Given the description of an element on the screen output the (x, y) to click on. 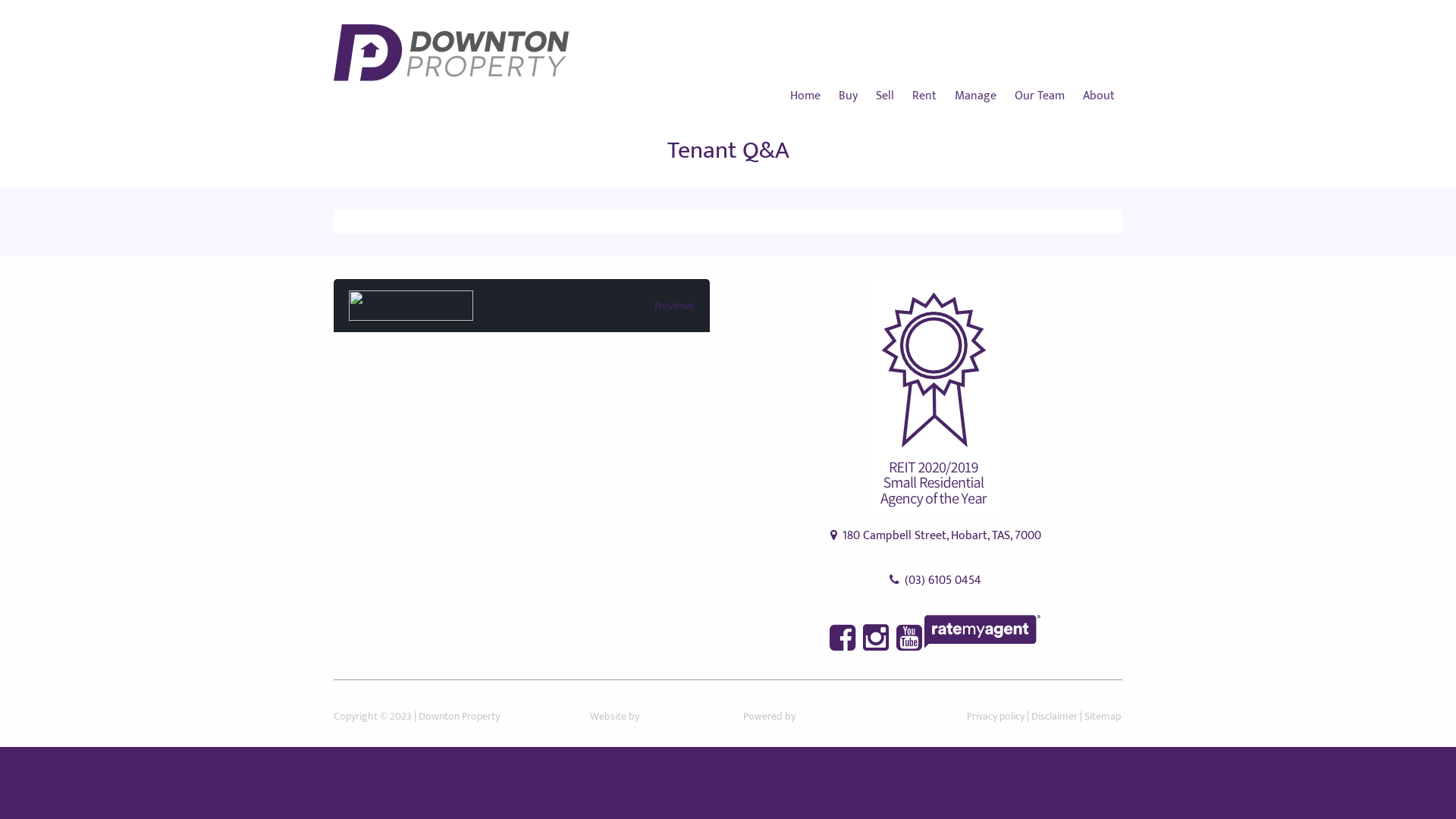
Manage Element type: text (975, 96)
Disclaimer Element type: text (1054, 715)
Rent Element type: text (924, 96)
Buy Element type: text (848, 96)
Reviews Element type: text (521, 305)
Downton Property Element type: text (458, 715)
Sitemap Element type: text (1102, 715)
About Element type: text (1098, 96)
Home Element type: text (809, 96)
Our Team Element type: text (1039, 96)
Sell Element type: text (884, 96)
Privacy policy Element type: text (995, 715)
